Given the description of an element on the screen output the (x, y) to click on. 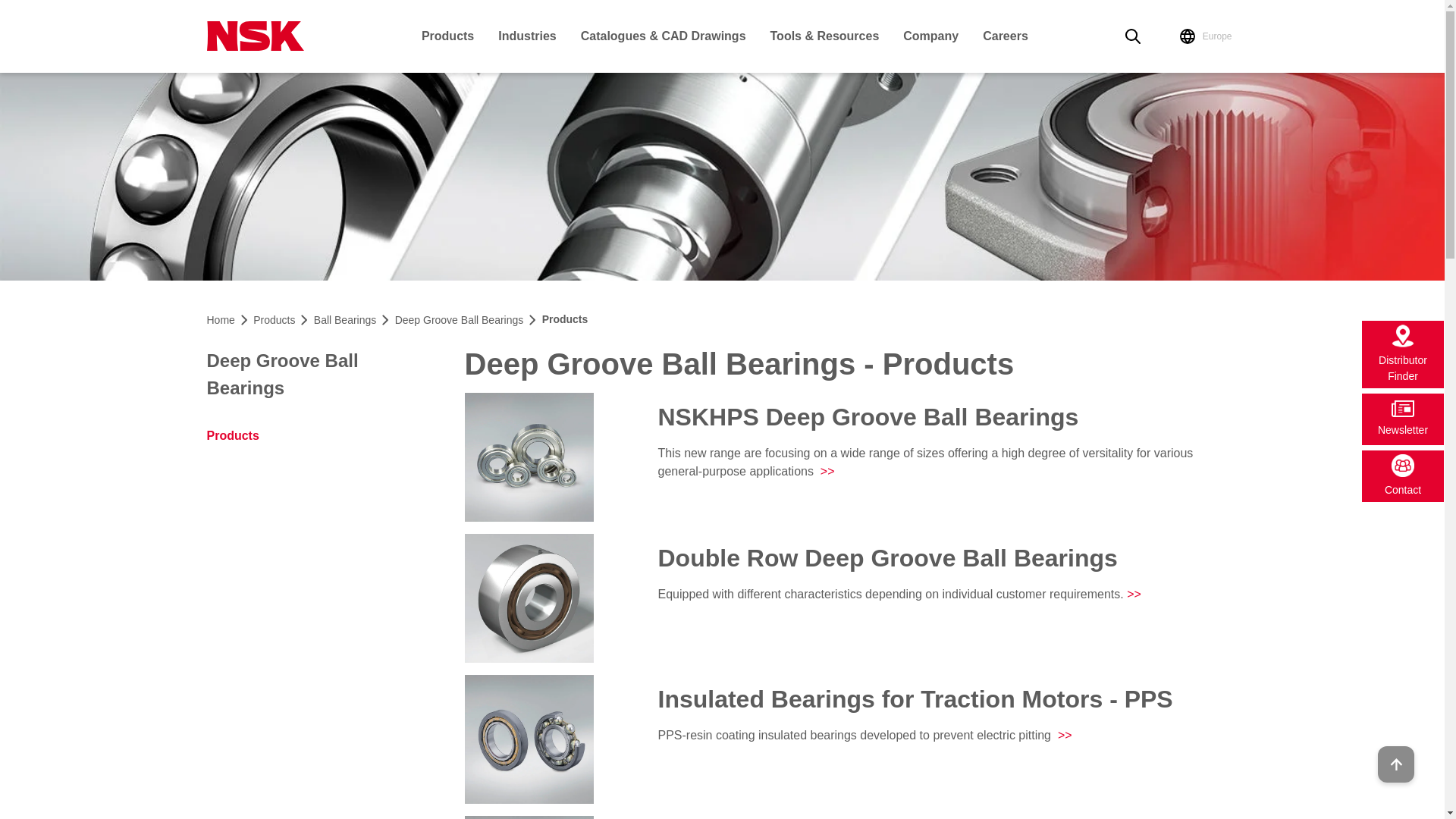
Deep Groove Ball Bearing, Double Row, Plastic Cage (528, 597)
Deep Groove Ball Bearing, Shielded, 5Comp (528, 457)
Deep Groove Ball Bearing, Ceramic-Coated, 2Comp (528, 817)
Deep Groove Ball Bearing, PPS Coated, 2Comp (528, 738)
Products (450, 36)
